Given the description of an element on the screen output the (x, y) to click on. 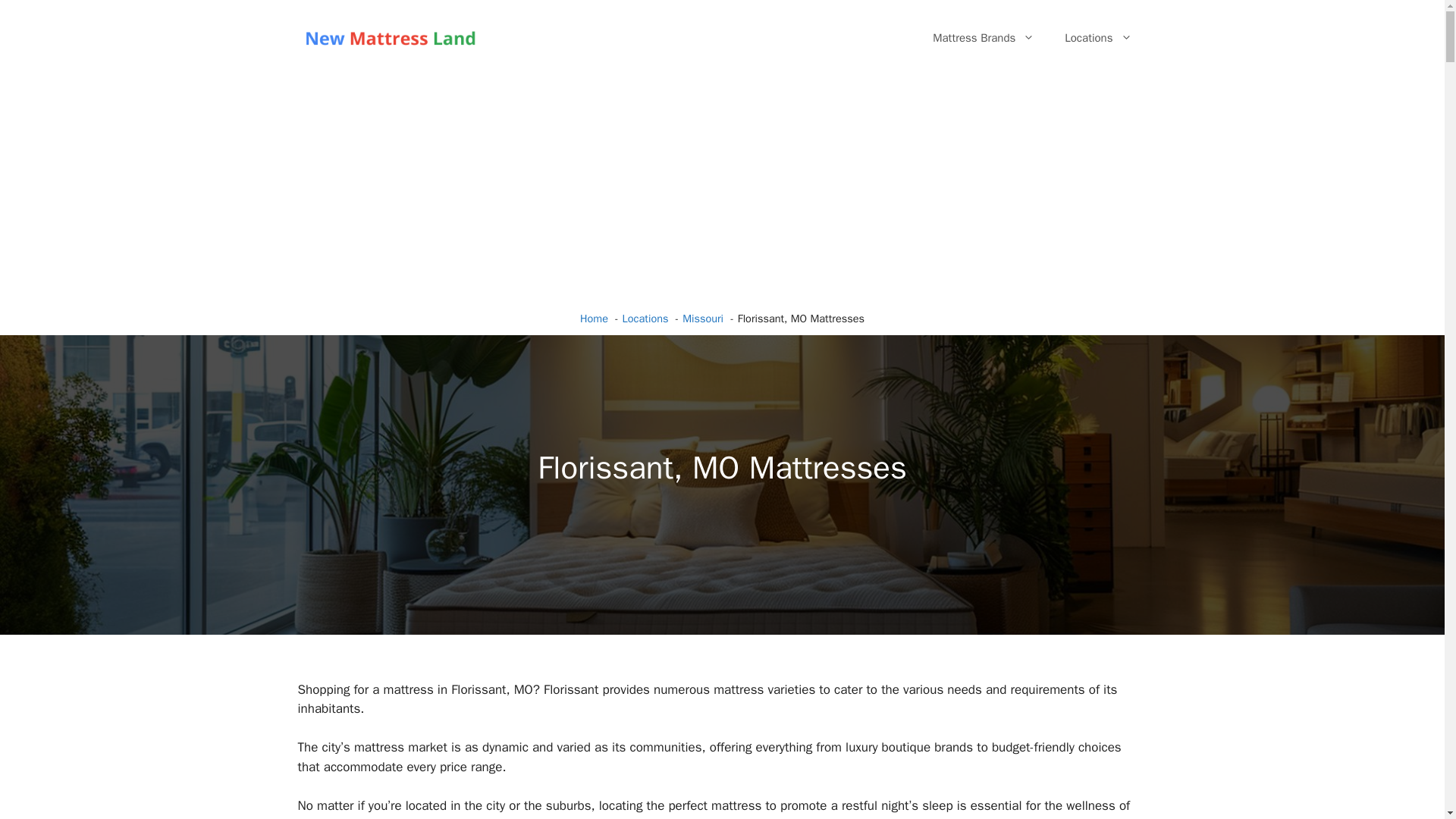
Mattress Brands (983, 37)
Home (593, 318)
Locations (1098, 37)
Locations (645, 318)
Missouri (702, 318)
